Given the description of an element on the screen output the (x, y) to click on. 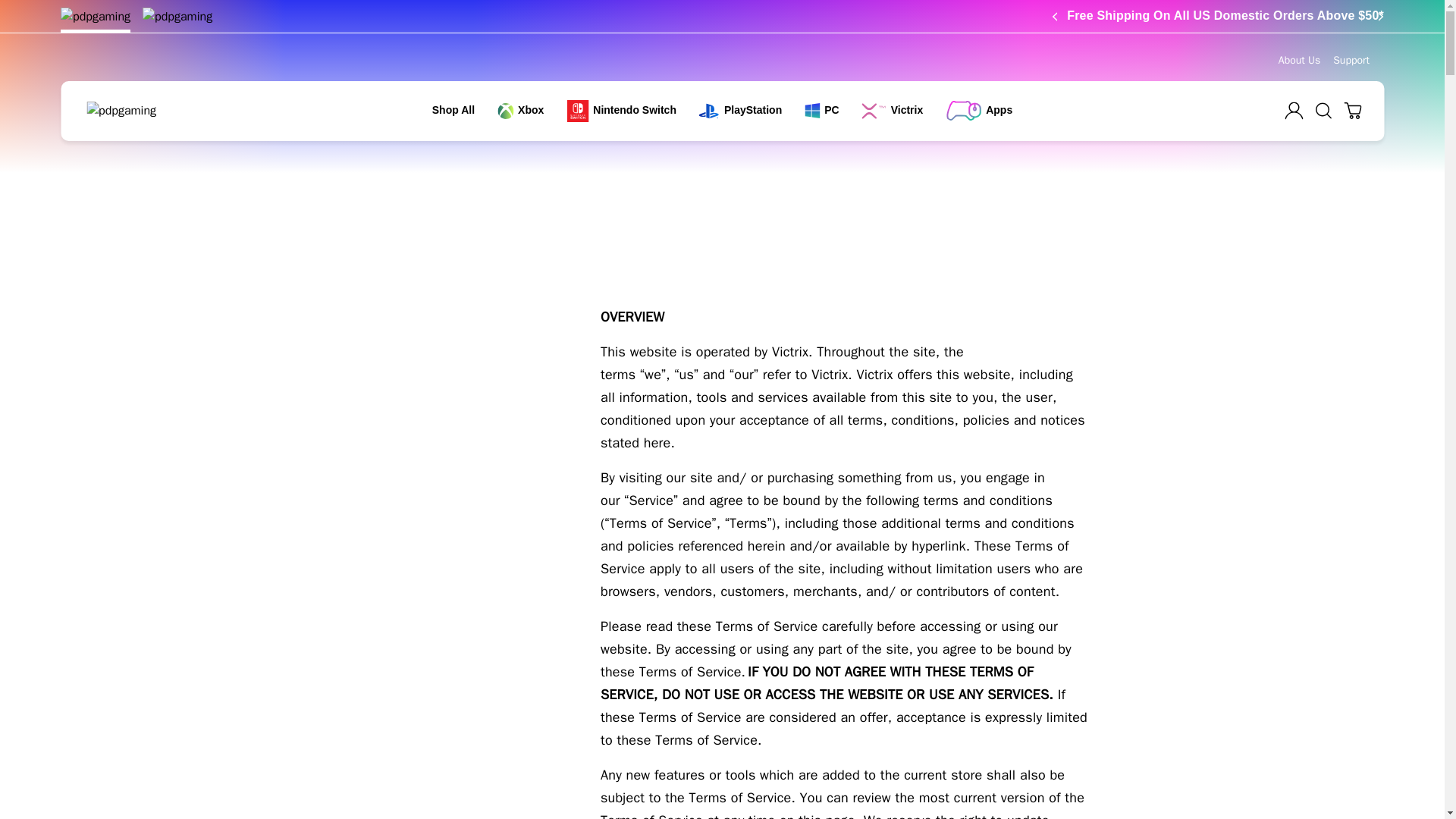
Your Account (1293, 110)
Shop All (453, 109)
Xbox (520, 109)
Support (1351, 60)
Nintendo Switch (621, 110)
About Us (1299, 60)
